Given the description of an element on the screen output the (x, y) to click on. 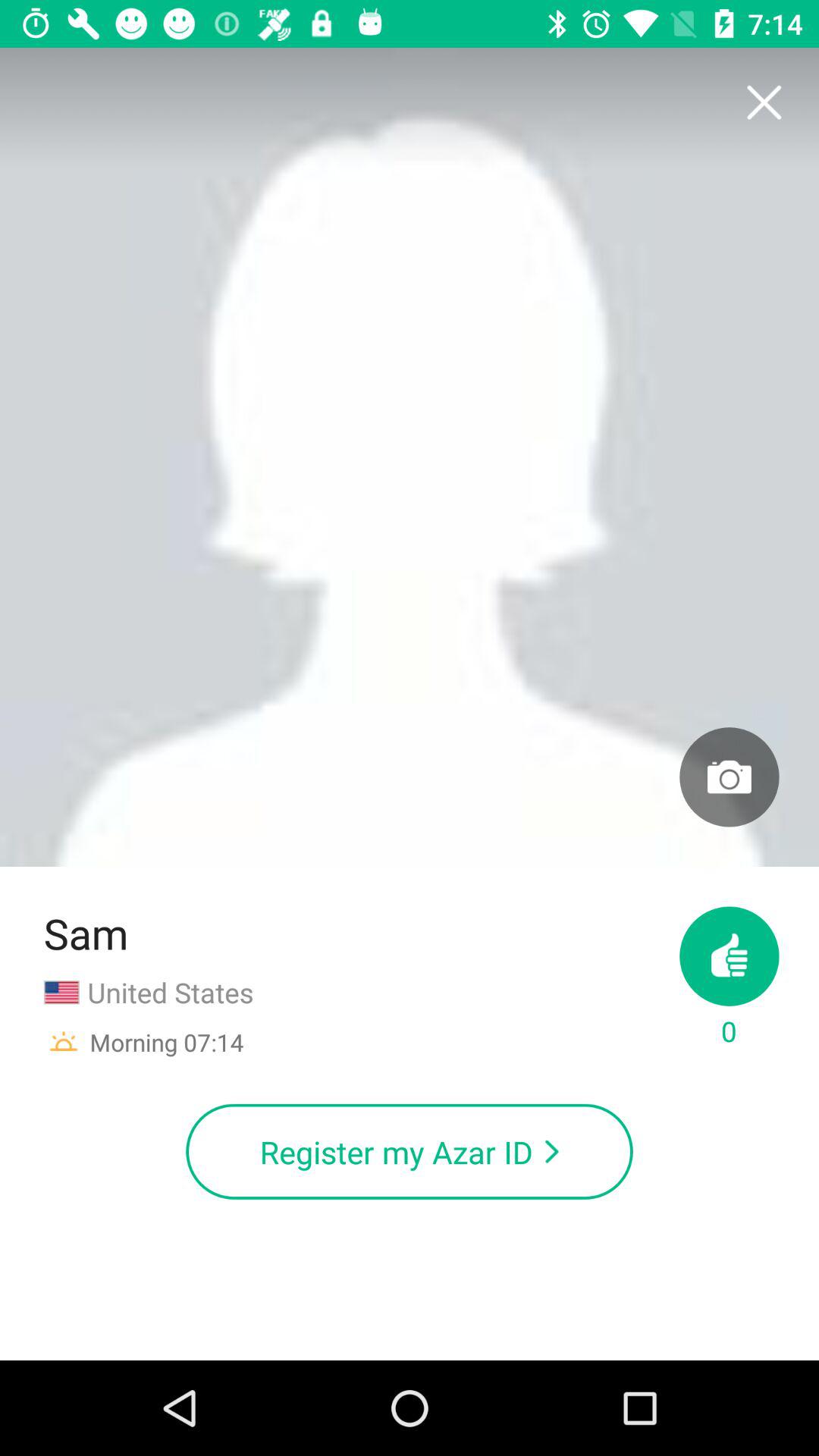
swipe to the 0 icon (729, 977)
